Given the description of an element on the screen output the (x, y) to click on. 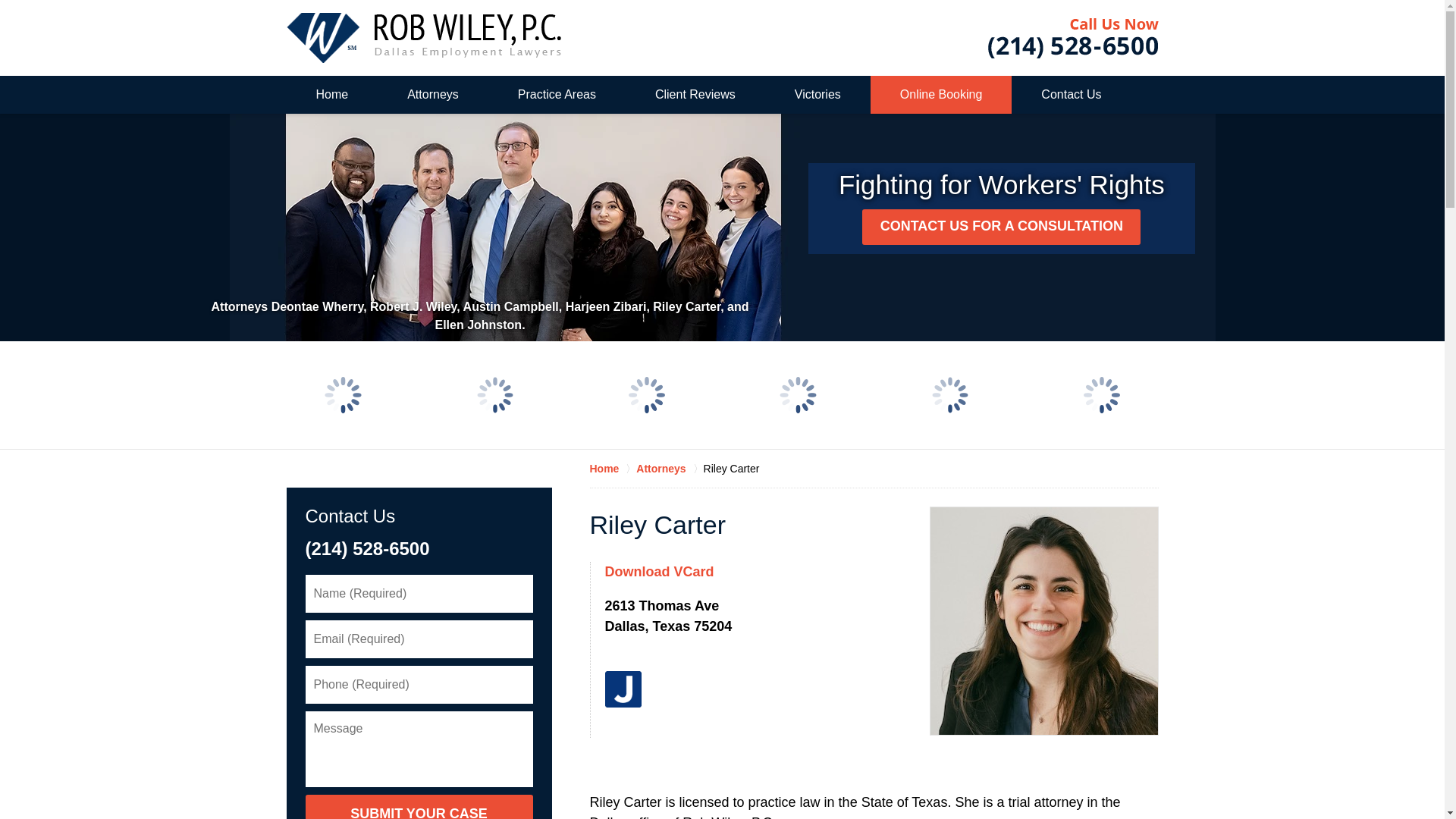
Message (418, 749)
Attorneys (669, 468)
Contact Us (349, 516)
Contact Mesquite Discrimination Lawyers Rob Wiley, P.C. (1072, 38)
SUBMIT YOUR CASE (418, 806)
Client Reviews (695, 94)
Victories (817, 94)
Attorneys (432, 94)
Home (332, 94)
Home (613, 468)
Practice Areas (556, 94)
Dallas Employment Lawyers Rob Wiley, P.C. Home (423, 38)
Back to Home (423, 38)
Contact Us (1071, 94)
CONTACT US FOR A CONSULTATION (1000, 226)
